Given the description of an element on the screen output the (x, y) to click on. 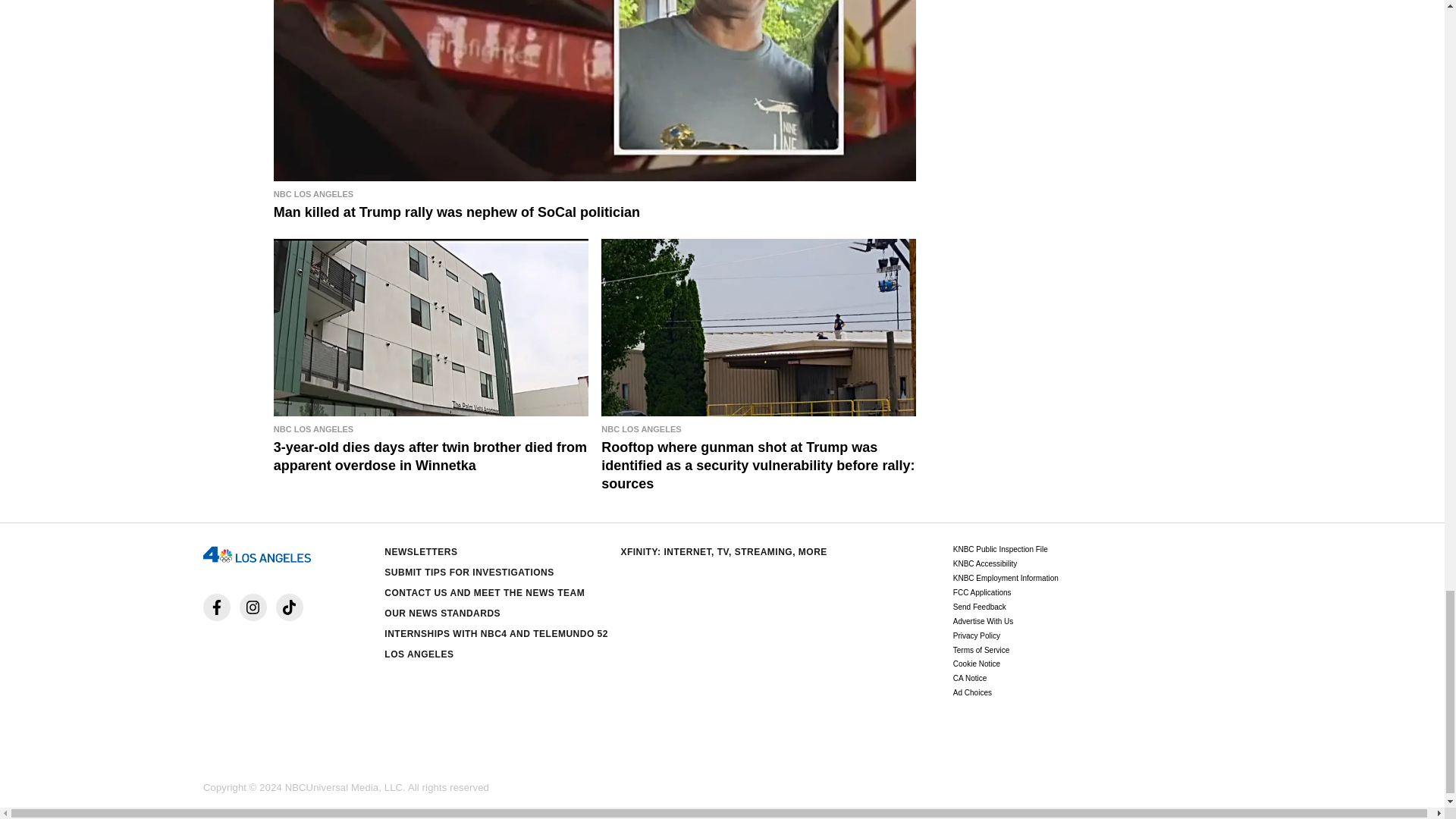
Man killed at Trump rally was nephew of SoCal politician (595, 90)
Man killed at Trump rally was nephew of SoCal politician (595, 203)
